Given the description of an element on the screen output the (x, y) to click on. 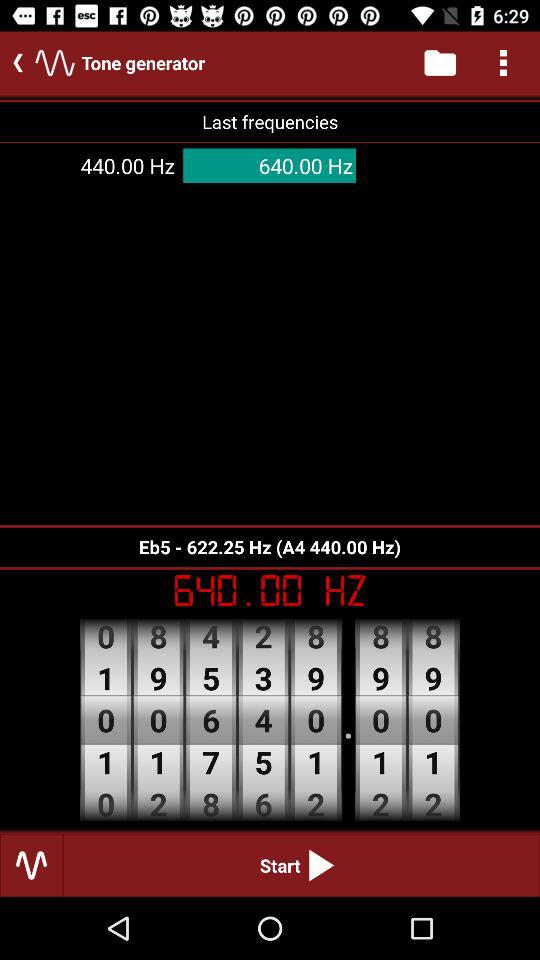
turn on eb5 622 25 item (270, 546)
